Given the description of an element on the screen output the (x, y) to click on. 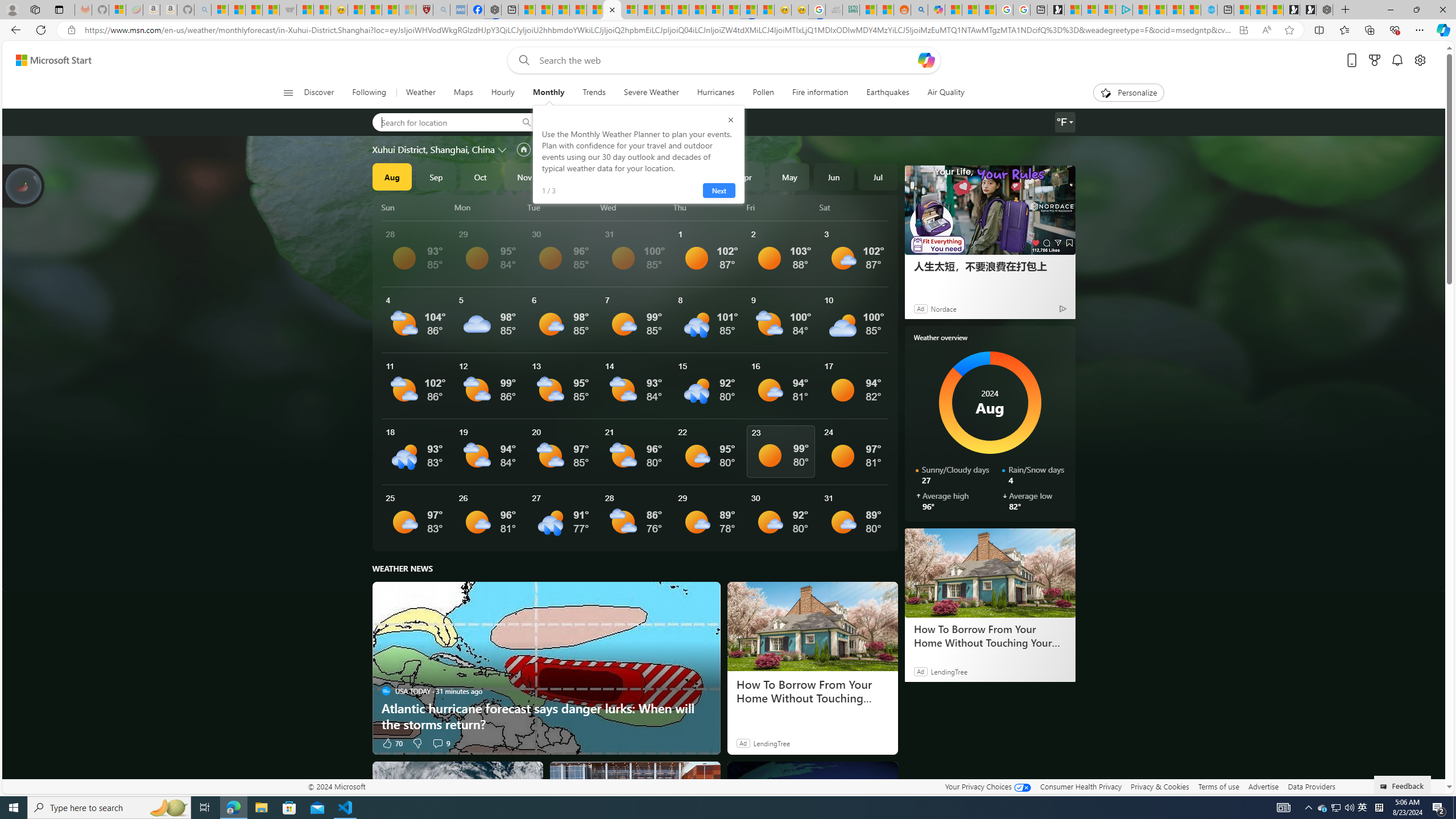
Fri (780, 207)
Fire information (820, 92)
Aug (391, 176)
How To Borrow From Your Home Without Touching Your Mortgage (812, 691)
Aberdeen (581, 121)
